Given the description of an element on the screen output the (x, y) to click on. 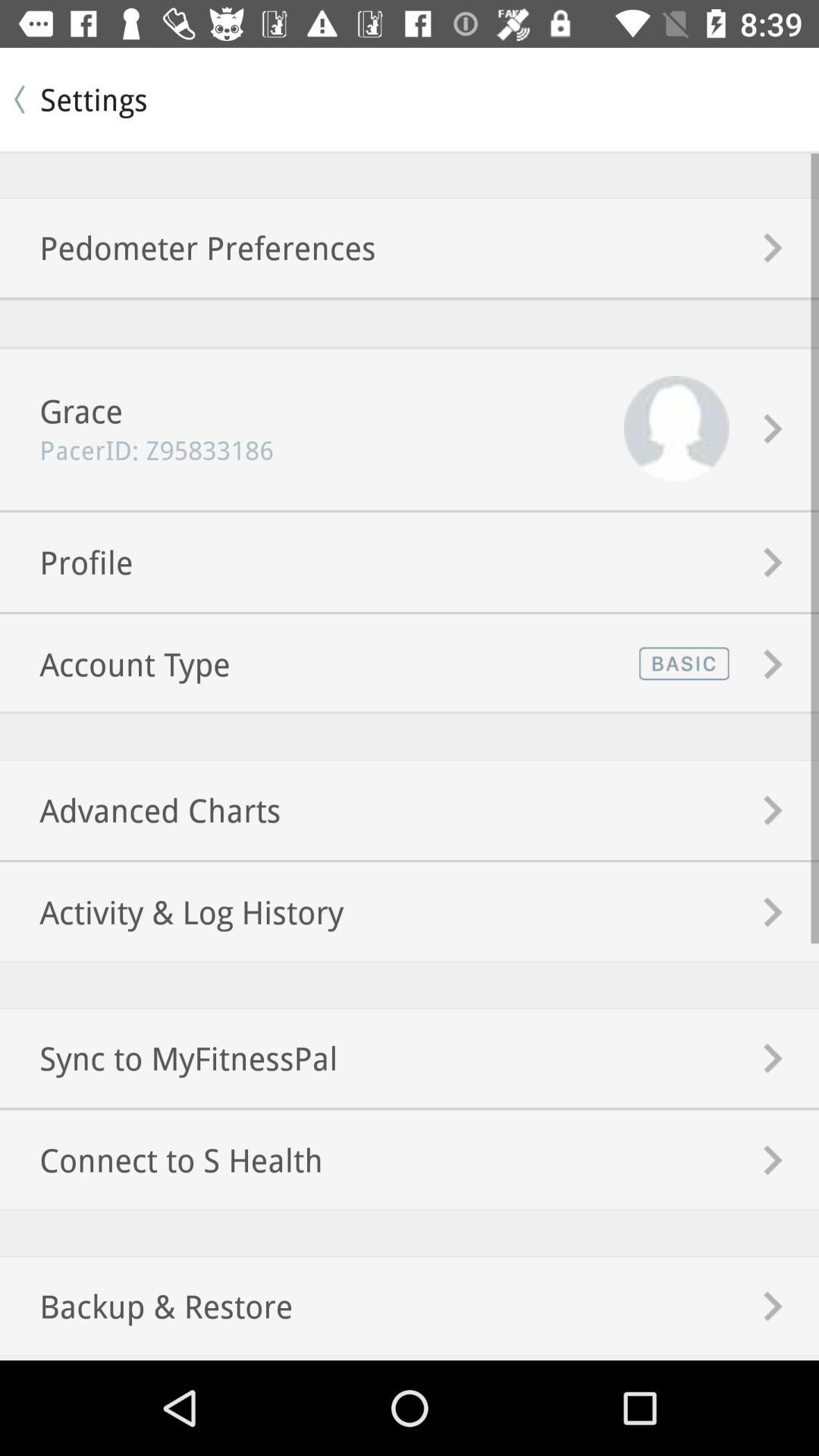
launch the pacerid: z95833186 (136, 449)
